Given the description of an element on the screen output the (x, y) to click on. 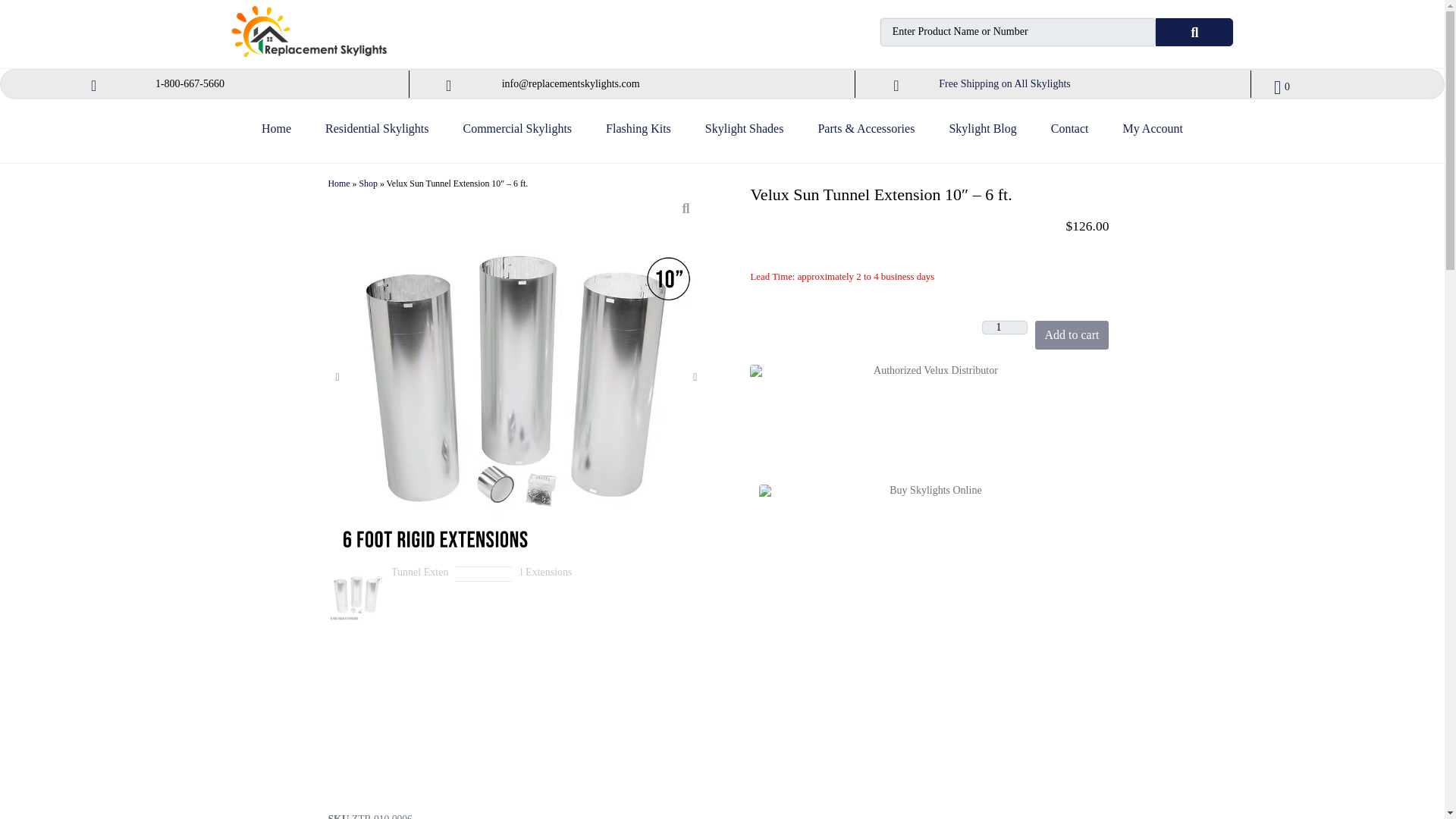
Home (276, 135)
Velux Sun Tunnel Extensions ZTR 010 0006 (355, 594)
Commercial Skylights (517, 135)
Velux Rigid Sun Tunnel Extension Tube (547, 679)
Velux ZTR Rigid Extension for Sun Tunnels (484, 679)
Velux Rigid 6 Foot Extension Tube (419, 679)
Residential Skylights (376, 135)
1 (1003, 327)
1-800-667-5660 (189, 83)
